Given the description of an element on the screen output the (x, y) to click on. 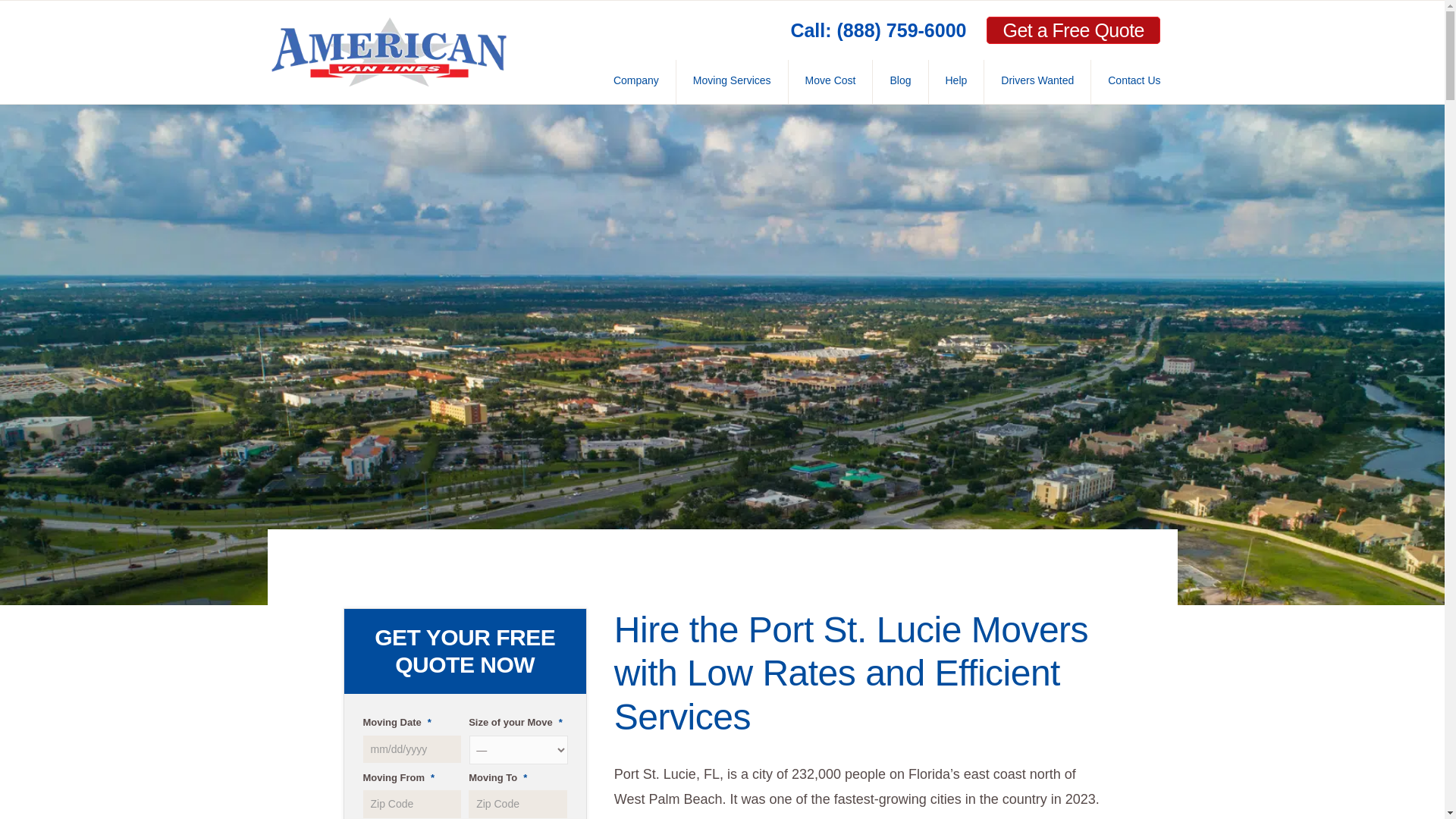
Get a Free Quote (1073, 30)
Help (956, 81)
Drivers Wanted (1037, 81)
Company (635, 81)
Contact Us (1133, 81)
Moving Services (732, 81)
Move Cost (830, 81)
Blog (899, 81)
